Given the description of an element on the screen output the (x, y) to click on. 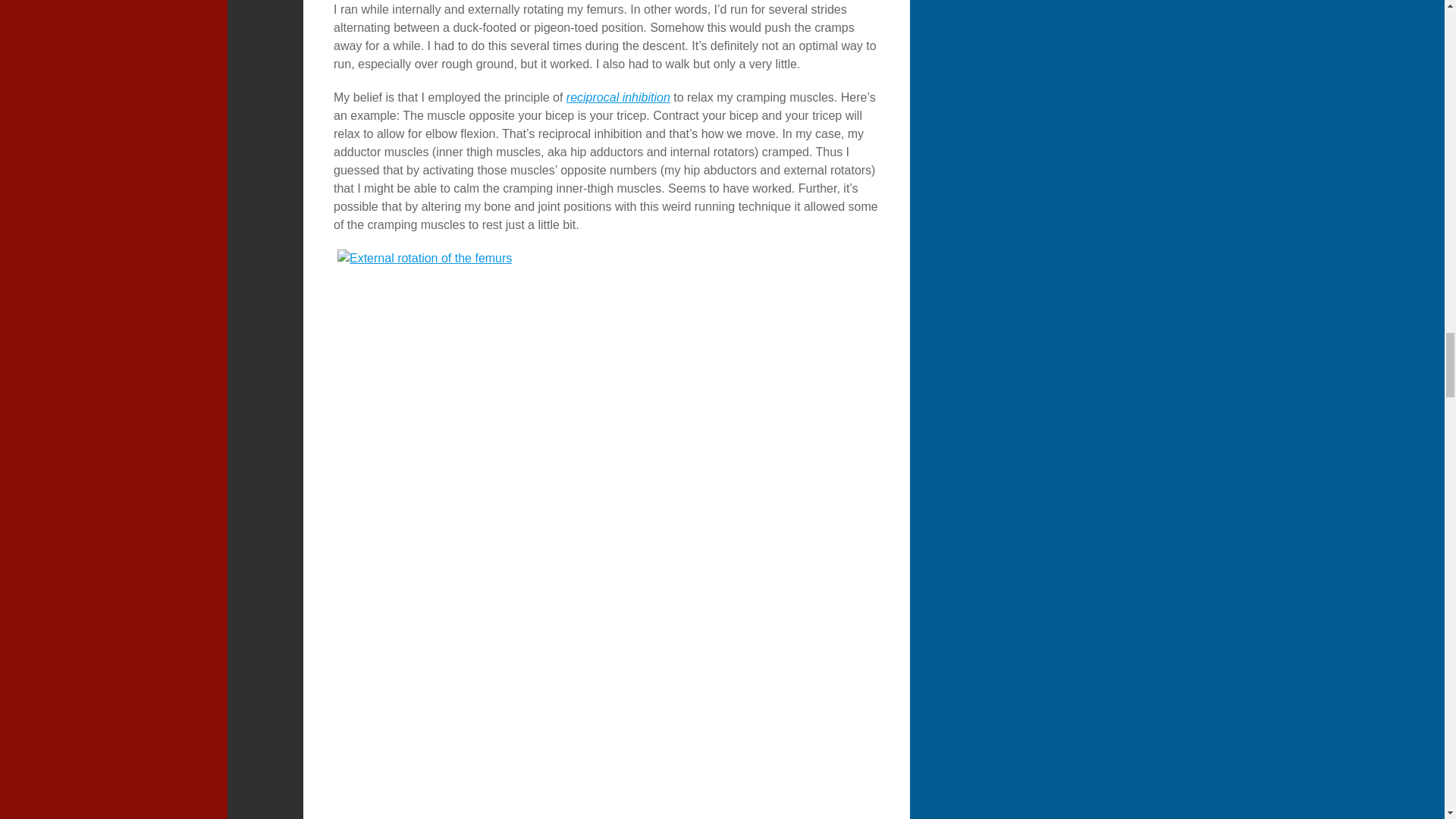
reciprocal inhibition (617, 97)
